Given the description of an element on the screen output the (x, y) to click on. 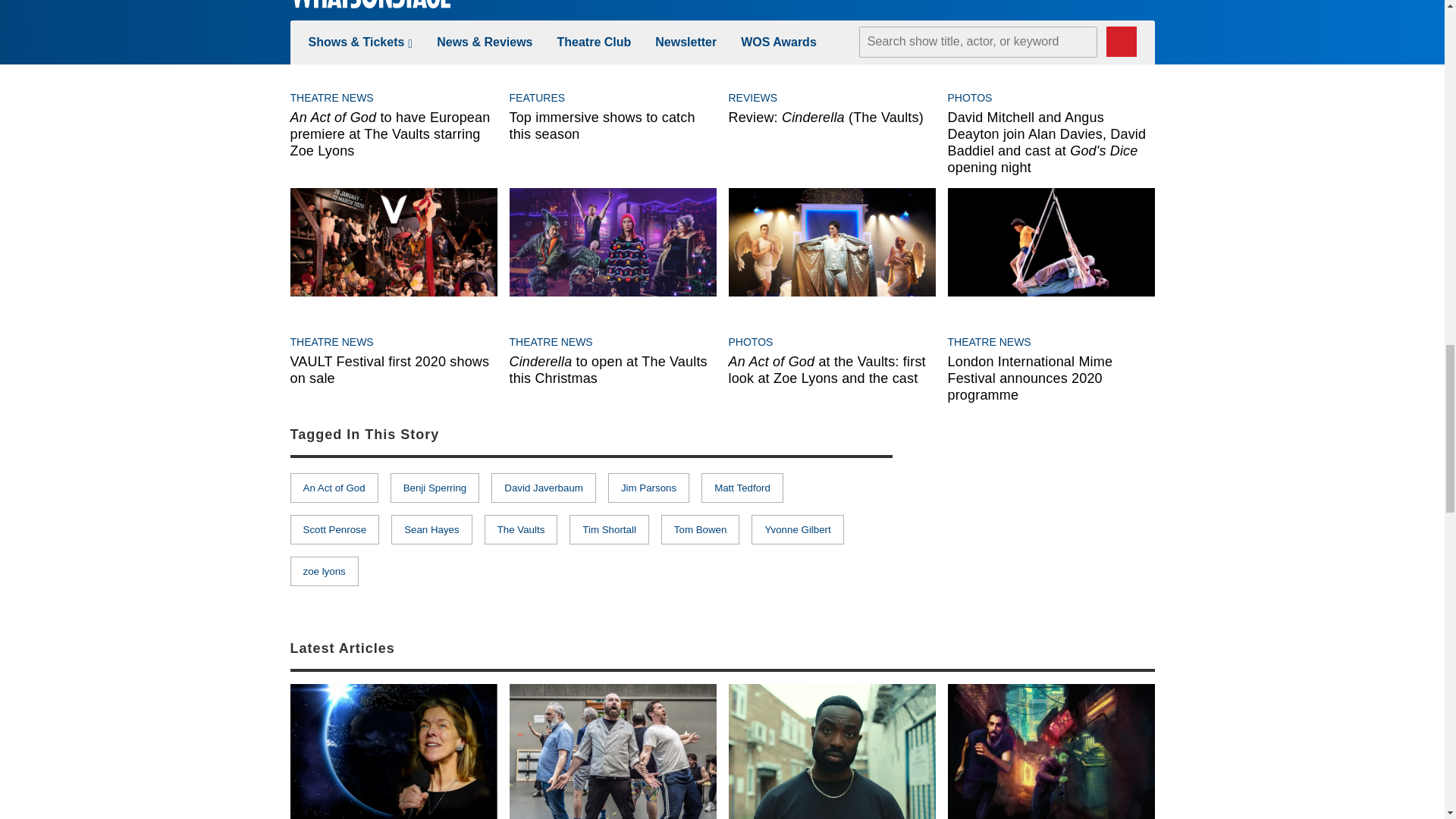
3rd party ad content (1040, 510)
